Given the description of an element on the screen output the (x, y) to click on. 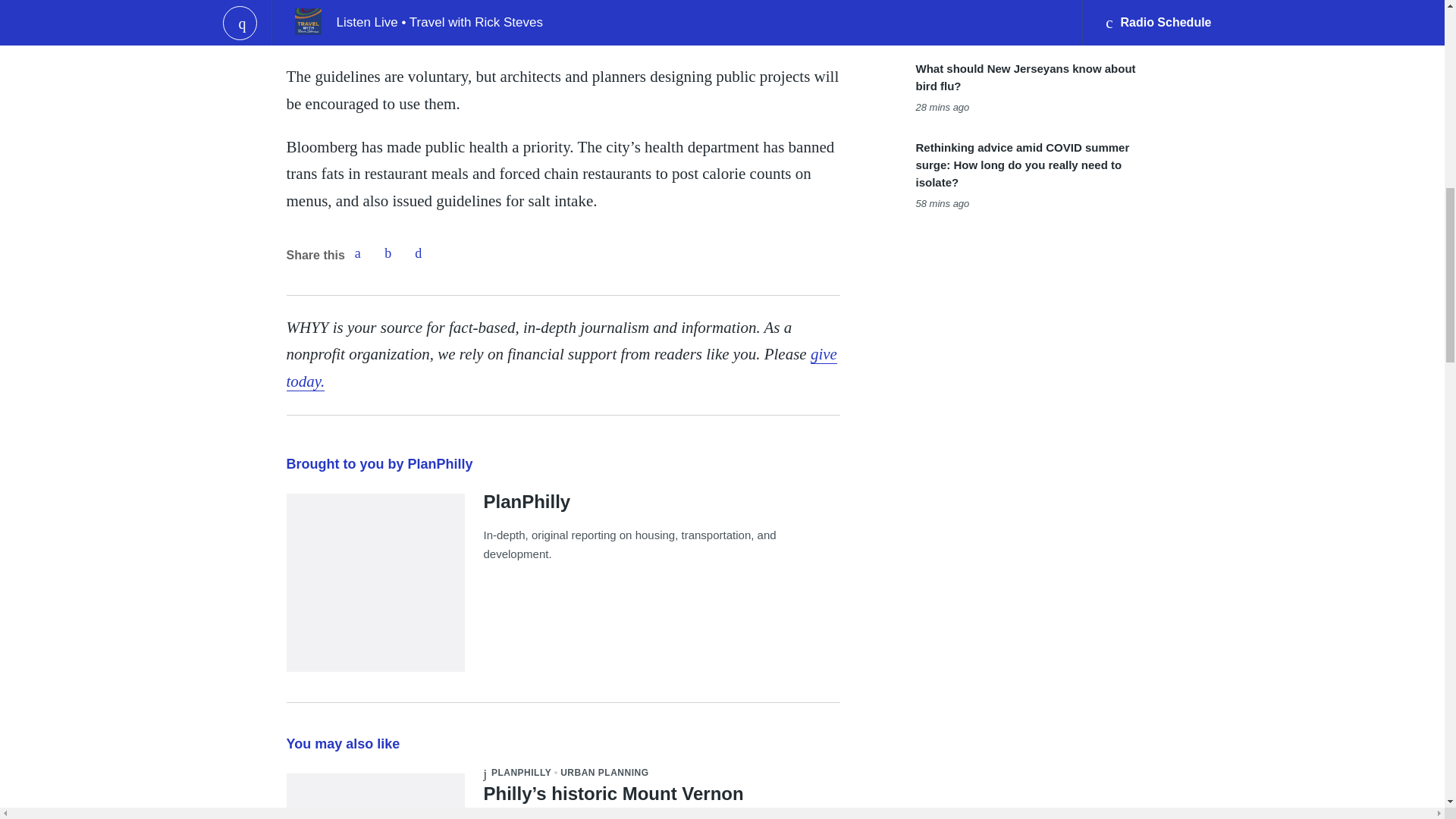
Facebook (357, 253)
Twitter (387, 253)
Email (418, 253)
